Given the description of an element on the screen output the (x, y) to click on. 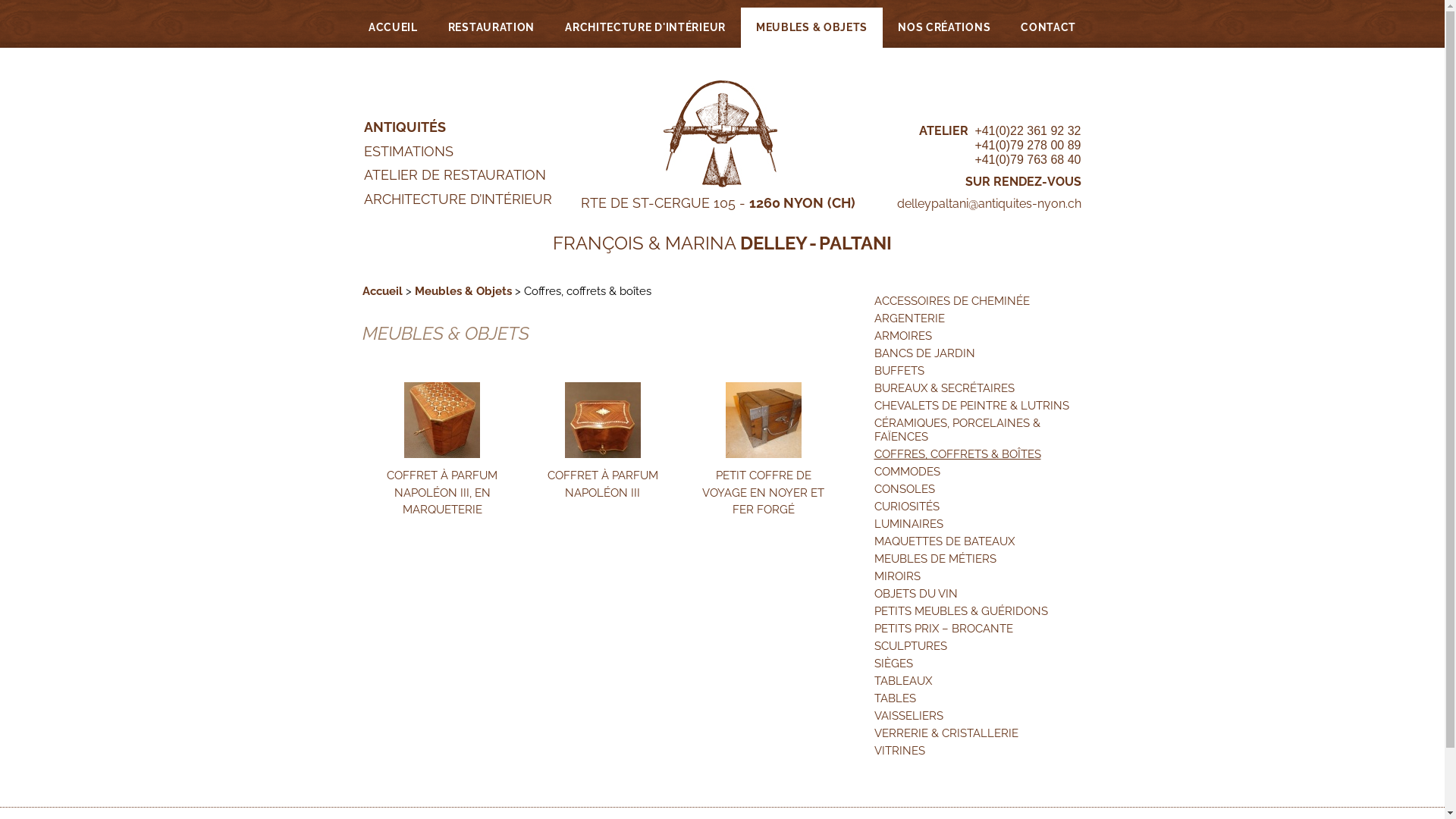
SCULPTURES Element type: text (977, 645)
BUFFETS Element type: text (977, 370)
TABLEAUX Element type: text (977, 680)
Meubles & Objets Element type: text (462, 291)
COMMODES Element type: text (977, 471)
LUMINAIRES Element type: text (977, 523)
VITRINES Element type: text (977, 750)
OBJETS DU VIN Element type: text (977, 593)
MIROIRS Element type: text (977, 576)
MEUBLES & OBJETS Element type: text (811, 27)
RESTAURATION Element type: text (491, 27)
TABLES Element type: text (977, 698)
CHEVALETS DE PEINTRE & LUTRINS Element type: text (977, 405)
CONTACT Element type: text (1048, 27)
ACCUEIL Element type: text (393, 27)
Accueil Element type: text (382, 291)
ARMOIRES Element type: text (977, 335)
MAQUETTES DE BATEAUX Element type: text (977, 541)
ARGENTERIE Element type: text (977, 318)
VAISSELIERS Element type: text (977, 715)
BANCS DE JARDIN Element type: text (977, 353)
CONSOLES Element type: text (977, 488)
delleypaltani@antiquites-nyon.ch Element type: text (988, 203)
VERRERIE & CRISTALLERIE Element type: text (977, 733)
